Given the description of an element on the screen output the (x, y) to click on. 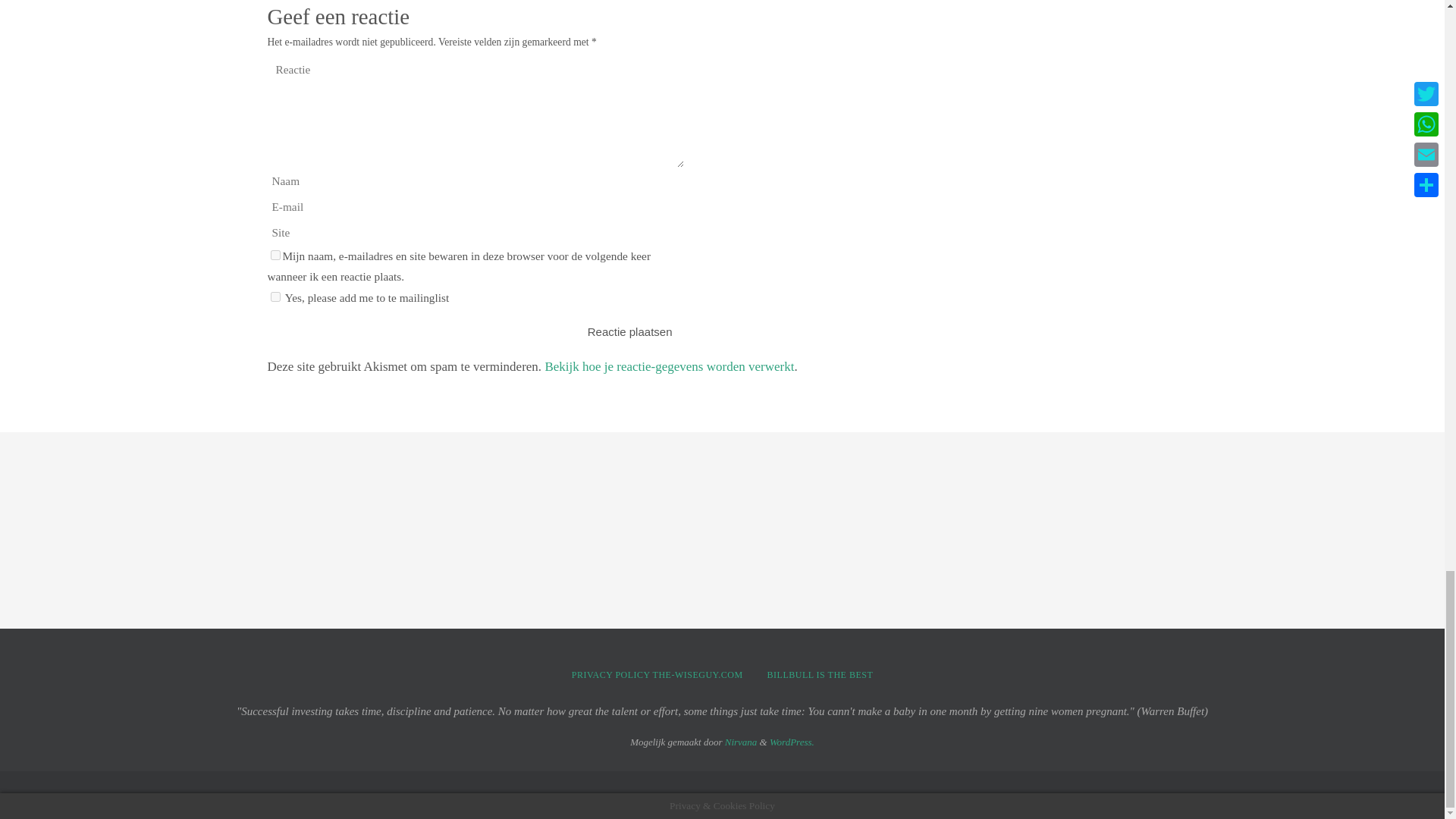
Nirvana Theme by Cryout Creations (741, 741)
'Semantic Personal Publishing Platform' (791, 741)
1 (274, 296)
yes (274, 255)
Reactie plaatsen (629, 331)
